Given the description of an element on the screen output the (x, y) to click on. 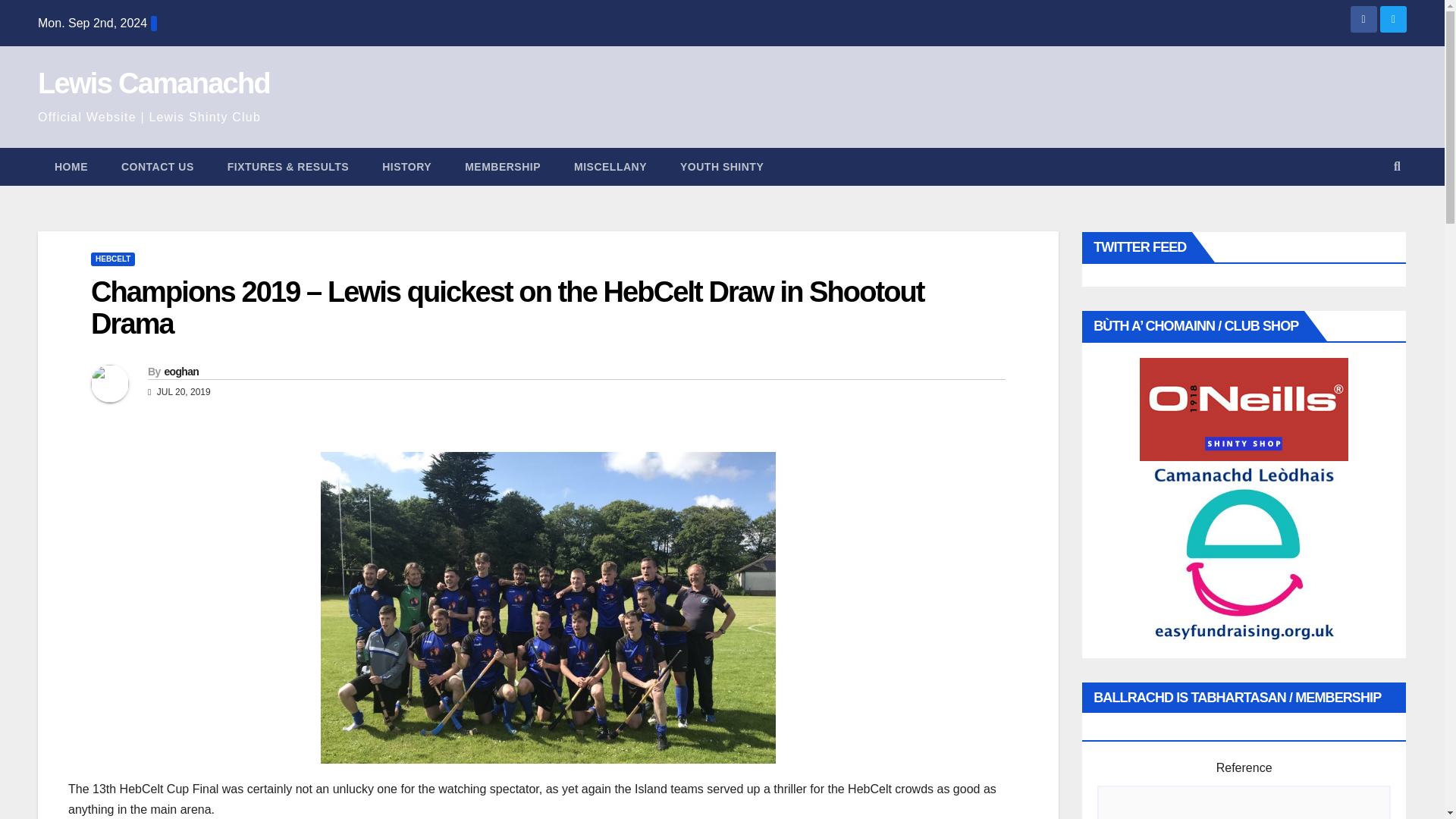
Home (70, 166)
HOME (70, 166)
Lewis Camanachd (153, 83)
HISTORY (406, 166)
CONTACT US (157, 166)
